Given the description of an element on the screen output the (x, y) to click on. 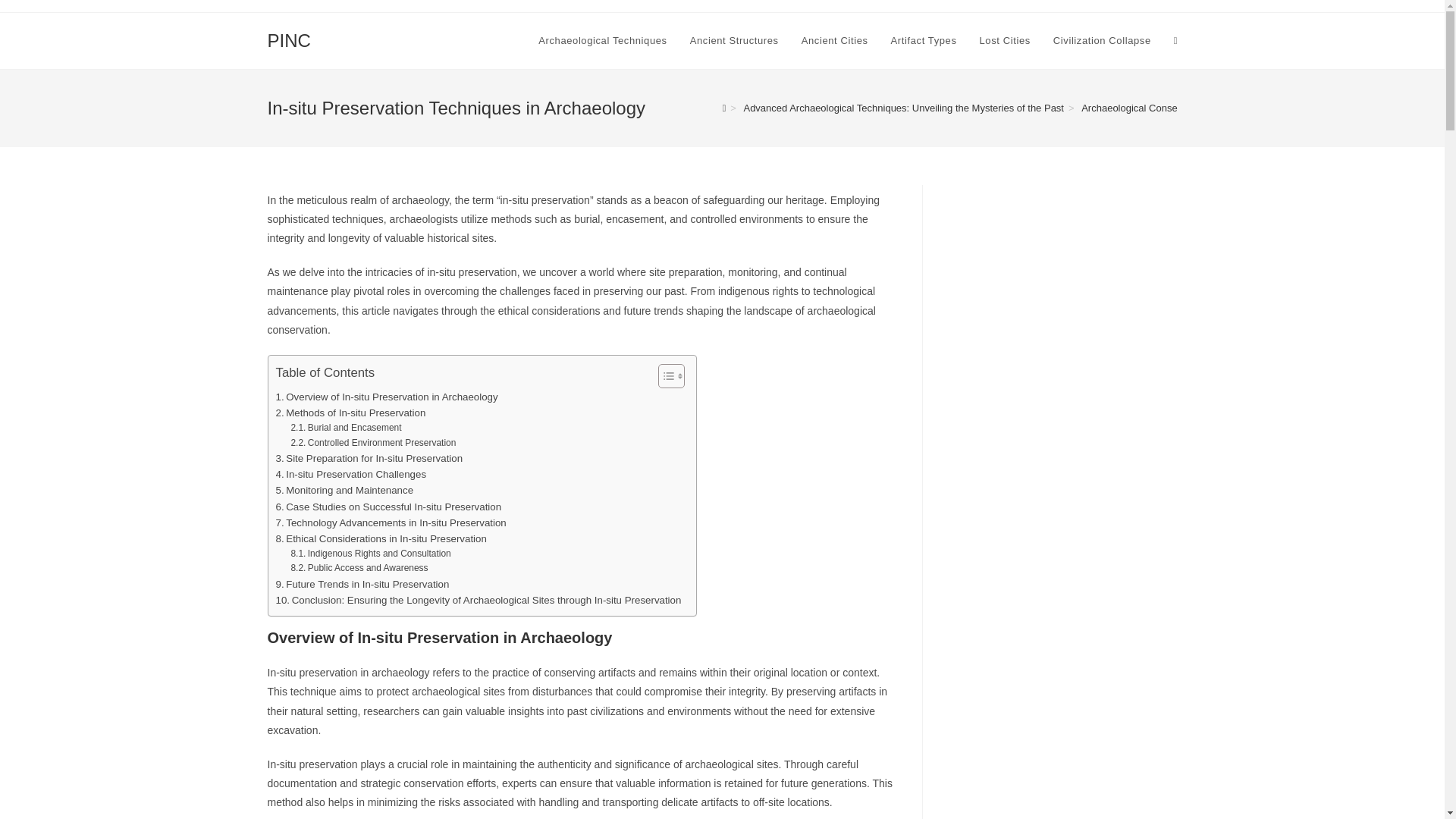
Future Trends in In-situ Preservation (362, 584)
Ethical Considerations in In-situ Preservation (381, 538)
Lost Cities (1005, 40)
Archaeological Techniques (602, 40)
Public Access and Awareness (358, 568)
Case Studies on Successful In-situ Preservation (389, 506)
PINC (288, 40)
Overview of In-situ Preservation in Archaeology (386, 396)
Artifact Types (923, 40)
Archaeological Conservation Methods (1164, 107)
